Given the description of an element on the screen output the (x, y) to click on. 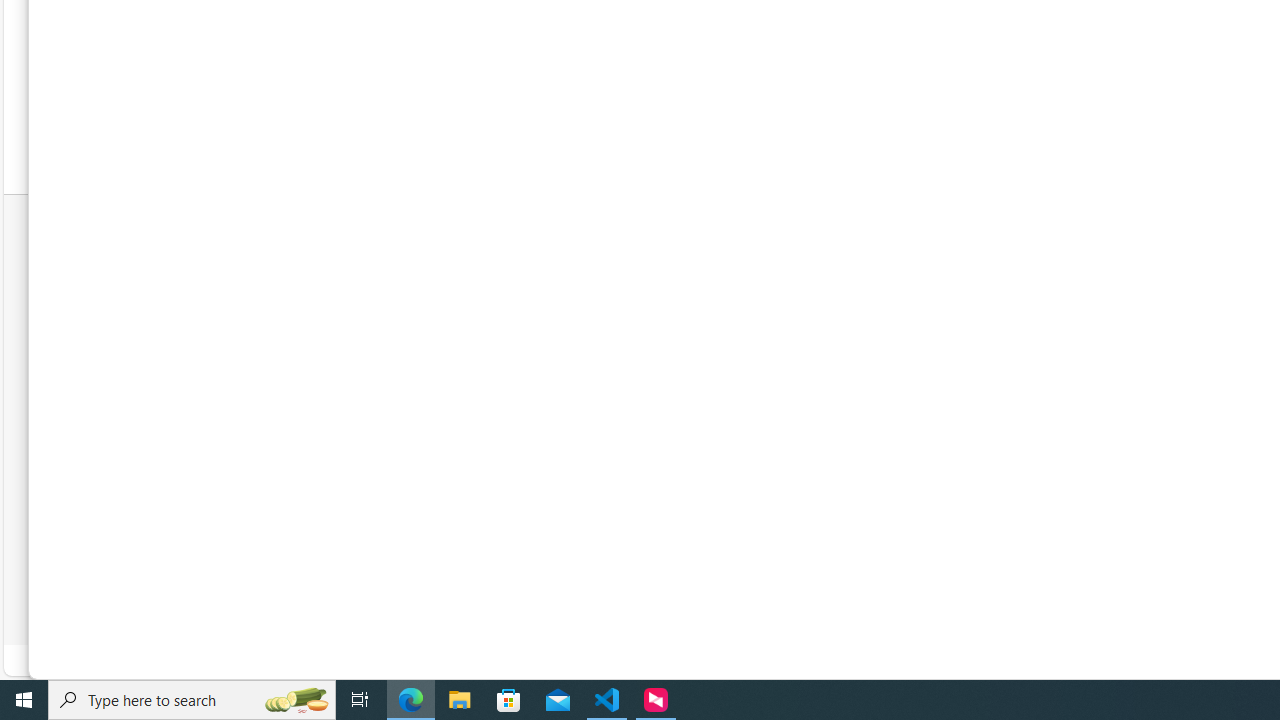
Security center (981, 425)
Consumer Health Data (1152, 597)
Registration (668, 288)
Facebook (1185, 314)
eBay's Blogs (1183, 288)
Start selling (981, 288)
Affiliates (981, 335)
Accessibility (932, 597)
Bidding & buying help (694, 335)
Learn to sell (924, 312)
Developers (922, 402)
Site map (981, 450)
Affiliates (915, 335)
Start selling (923, 288)
